Given the description of an element on the screen output the (x, y) to click on. 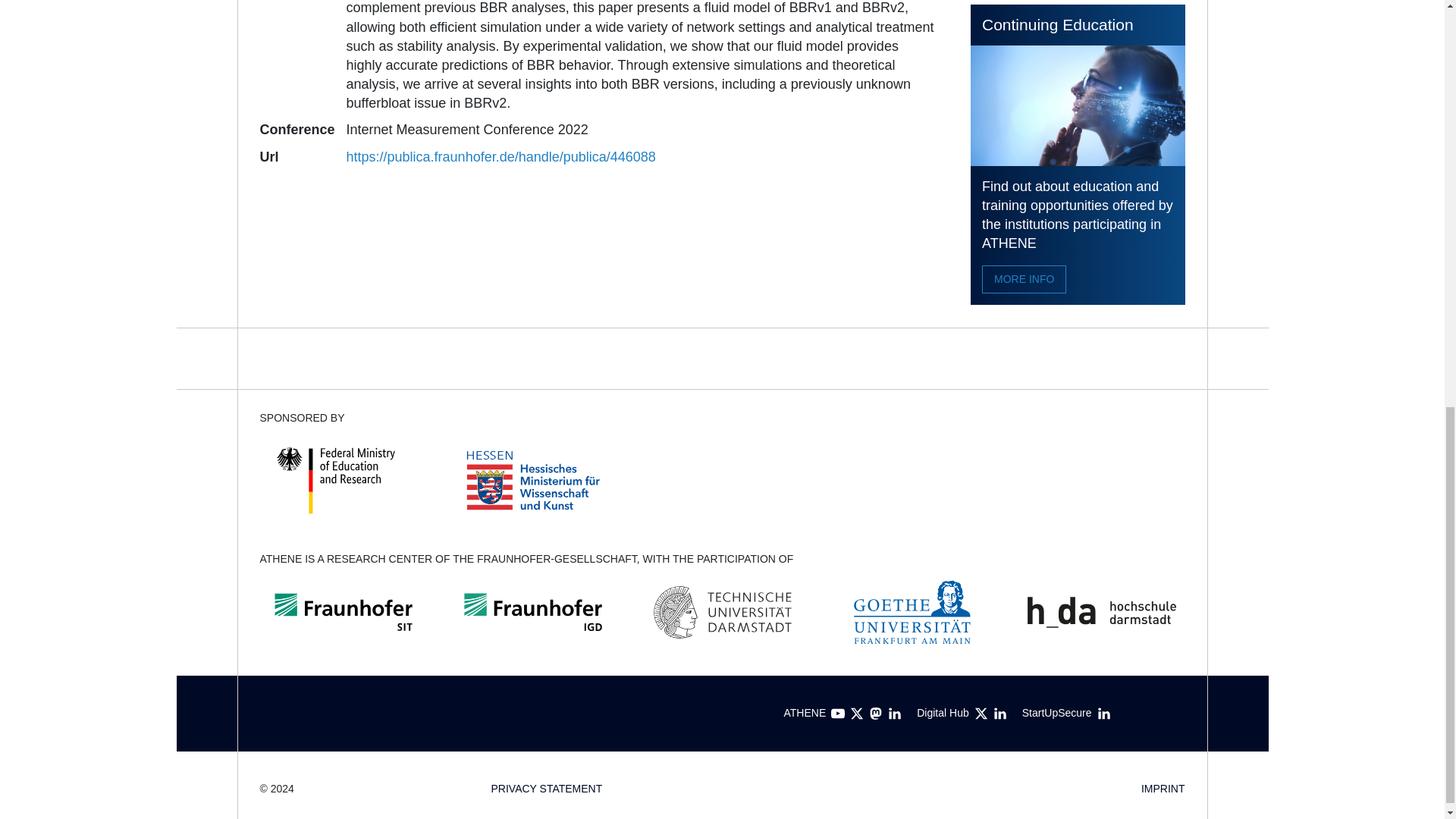
YouTube (837, 713)
LinkedIn (1103, 713)
LinkedIn (999, 713)
Twitter (981, 713)
Mastodon (875, 713)
Twitter (856, 713)
LinkedIn (894, 713)
